Given the description of an element on the screen output the (x, y) to click on. 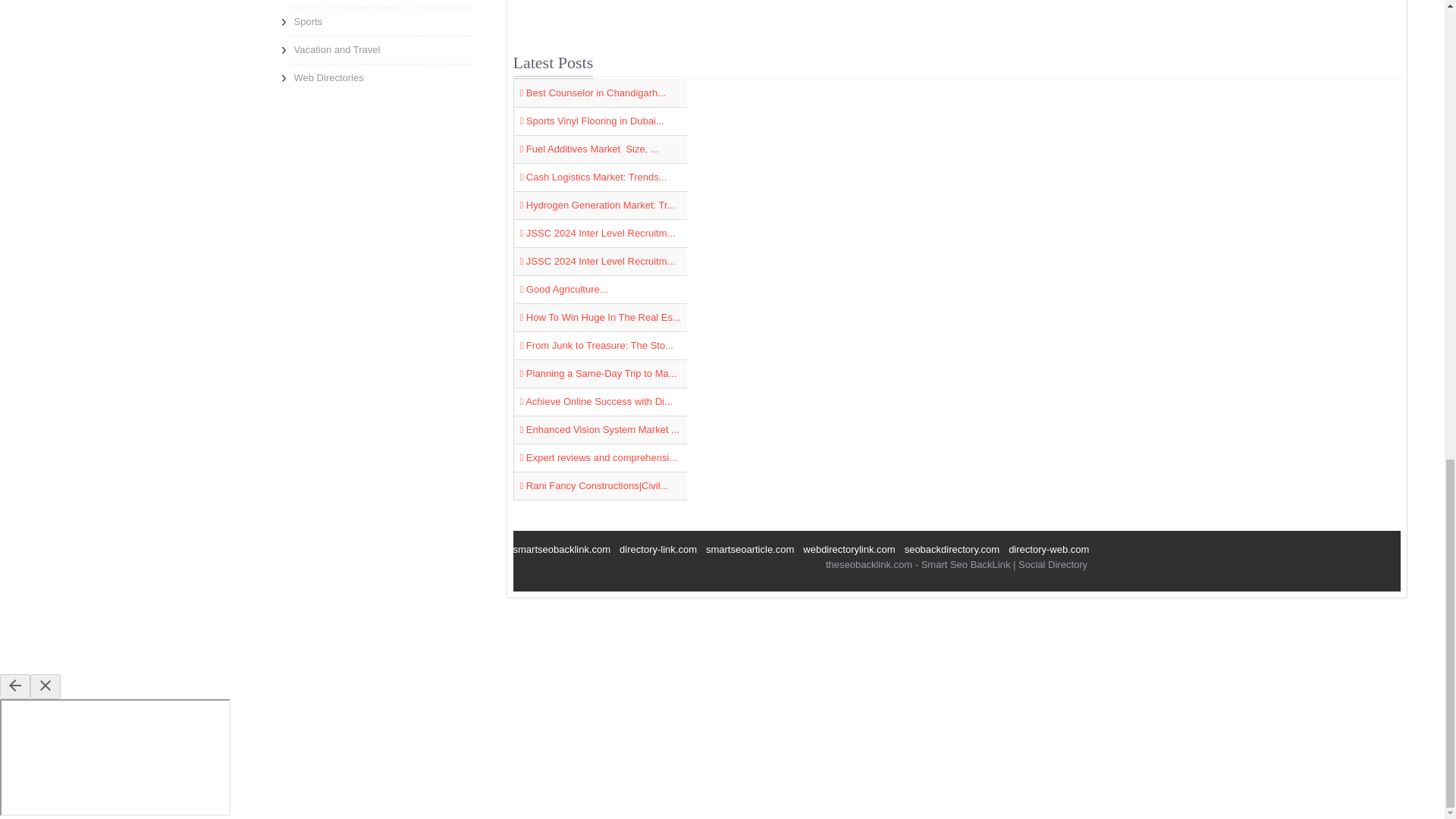
Society (381, 3)
Vacation and Travel (381, 49)
Web Directories (381, 77)
Sports (381, 22)
